Given the description of an element on the screen output the (x, y) to click on. 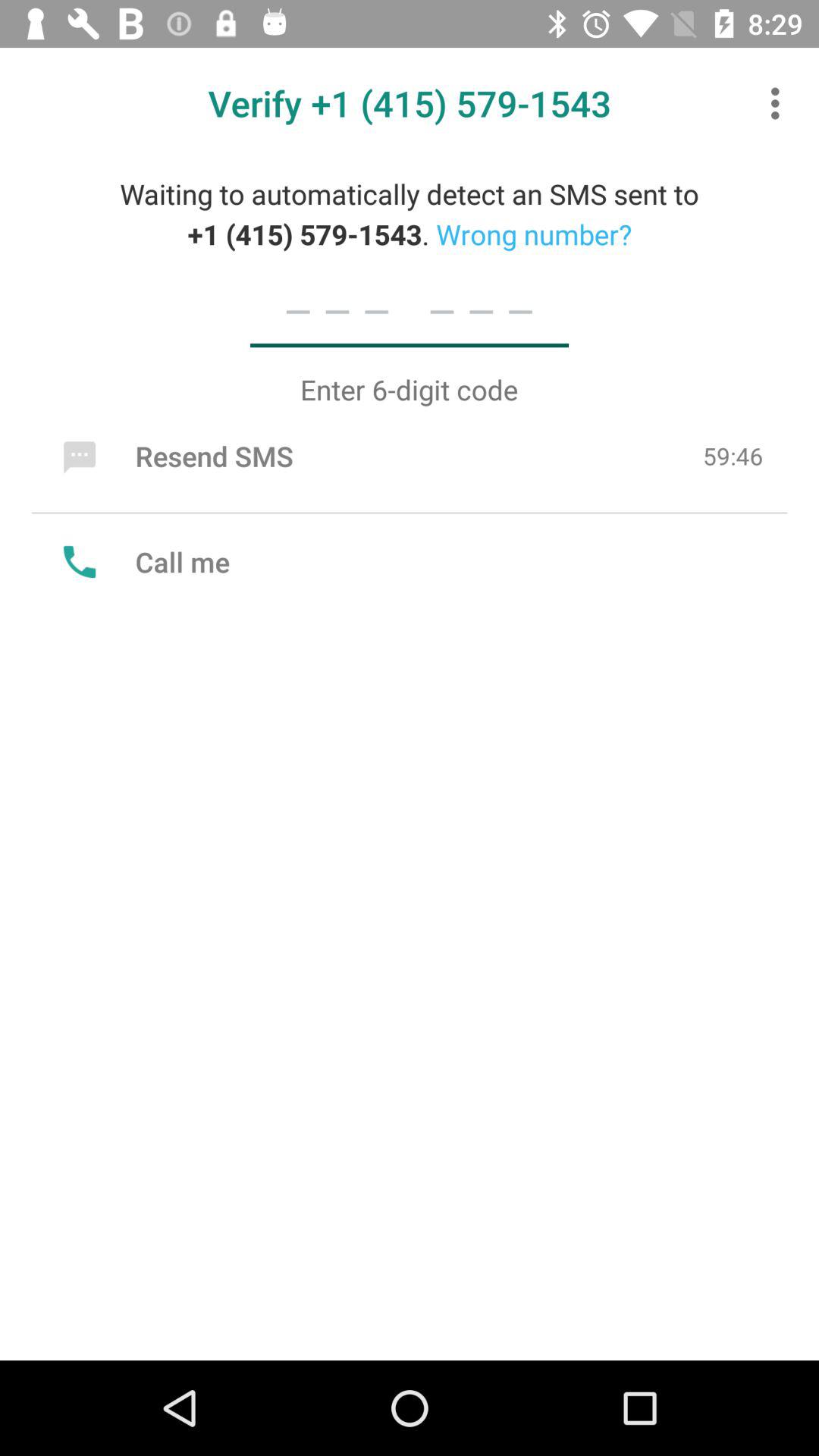
scroll until the call me item (142, 561)
